Given the description of an element on the screen output the (x, y) to click on. 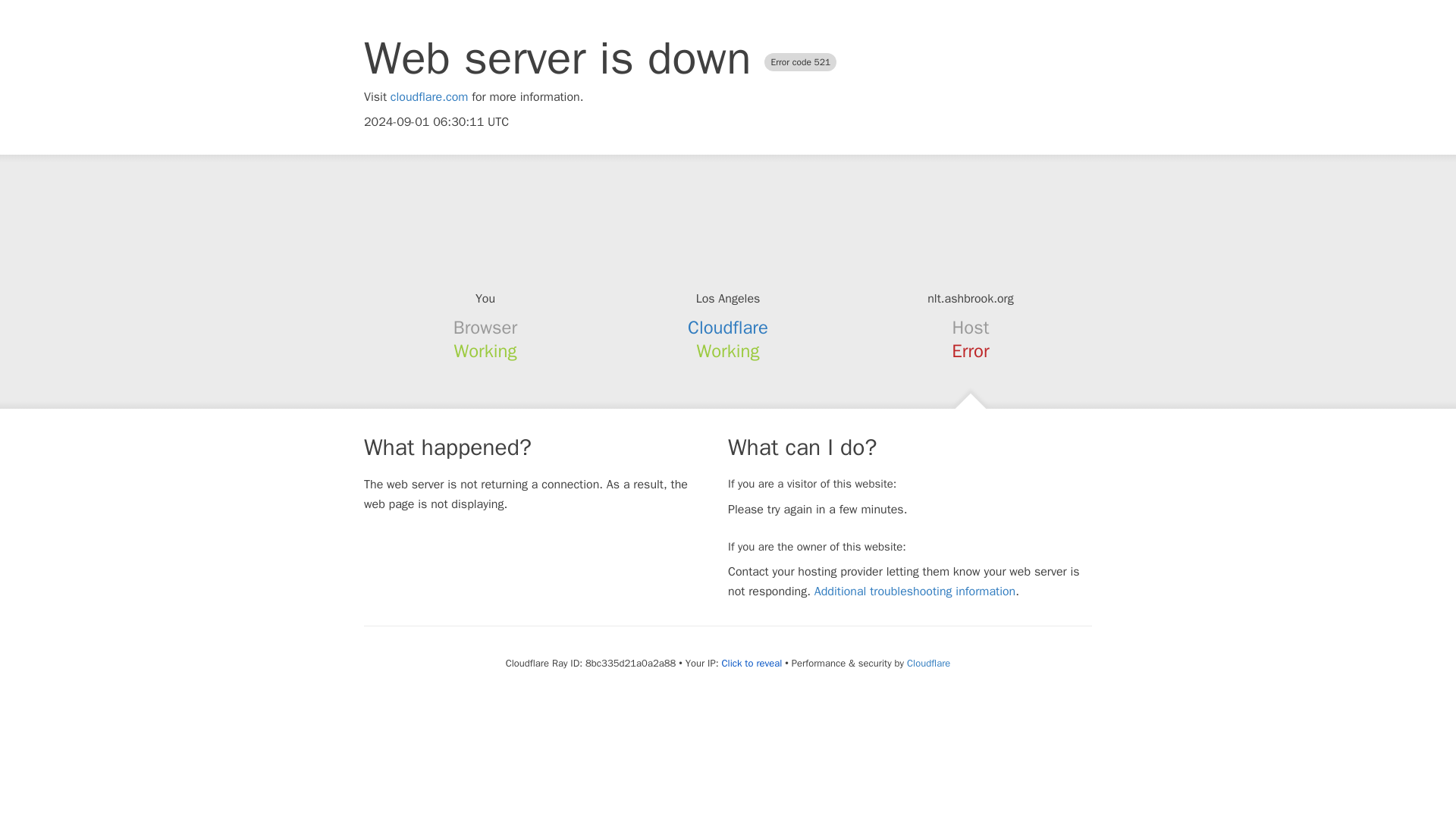
Cloudflare (727, 327)
Additional troubleshooting information (913, 590)
Click to reveal (750, 663)
cloudflare.com (429, 96)
Cloudflare (928, 662)
